Given the description of an element on the screen output the (x, y) to click on. 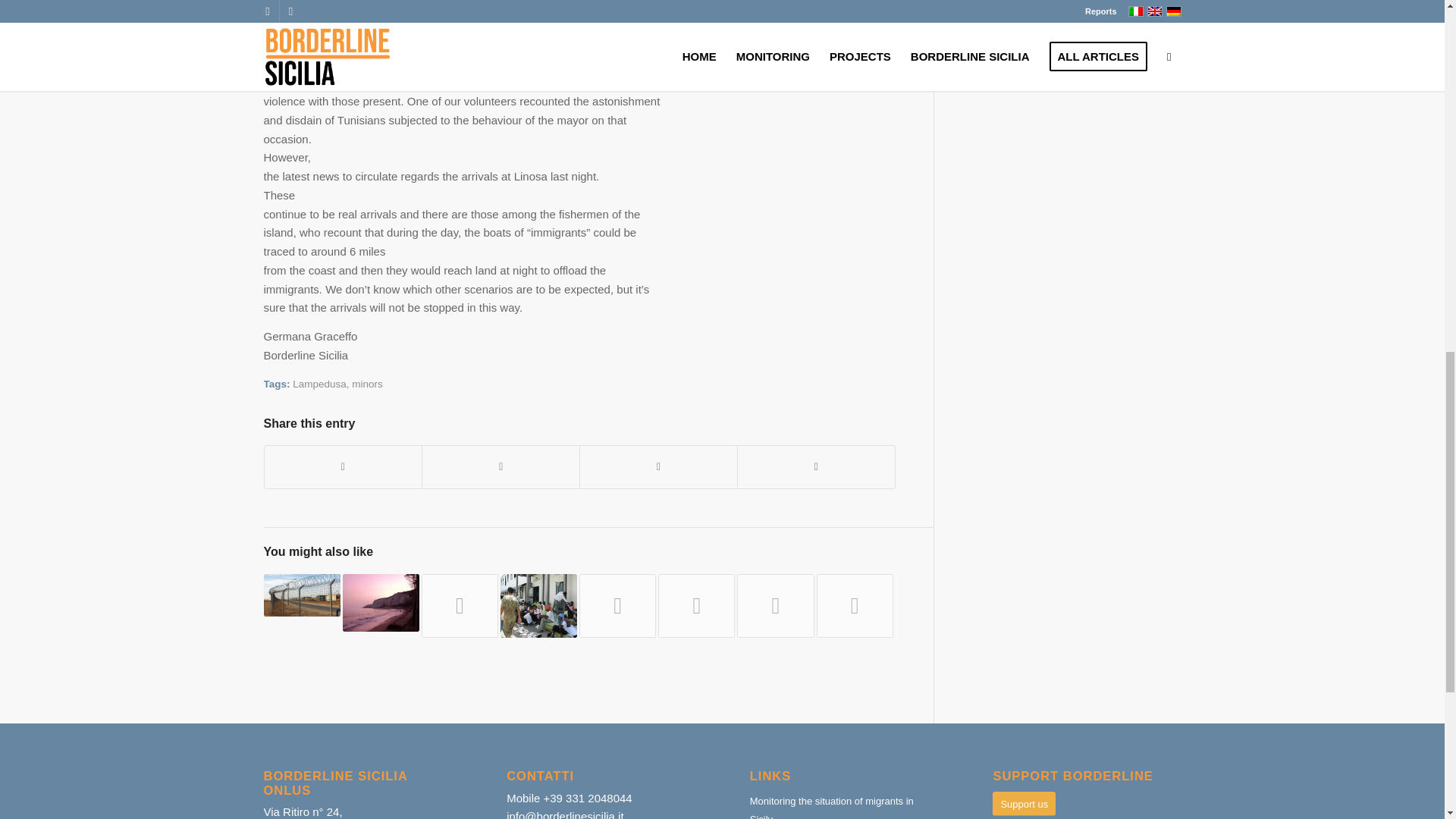
minors (367, 383)
Lampedusa (319, 383)
